Given the description of an element on the screen output the (x, y) to click on. 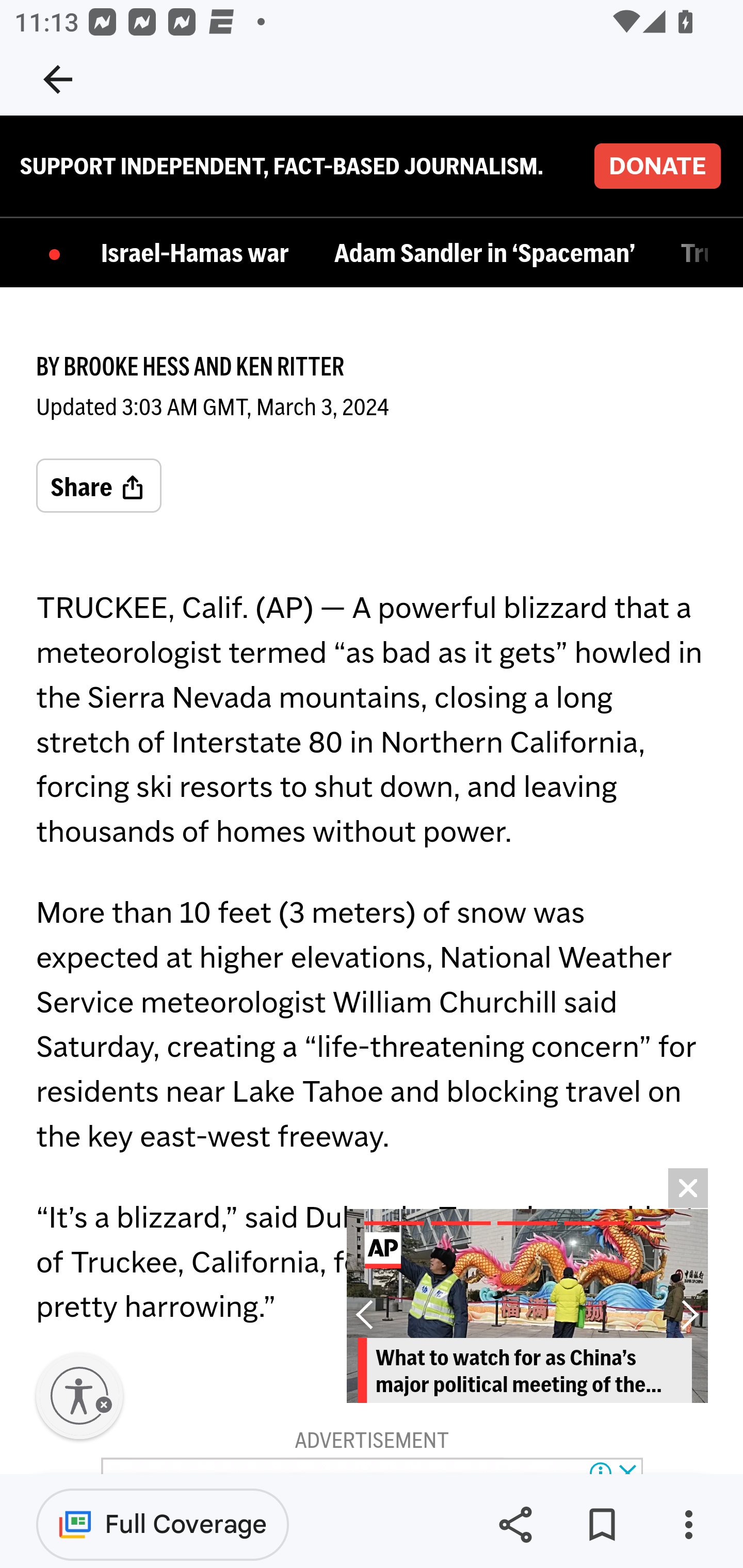
Navigate up (57, 79)
DONATE (657, 167)
Israel-Hamas war (200, 254)
Adam Sandler in ‘Spaceman’ (489, 254)
Share (99, 486)
Enable accessibility (79, 1396)
Share (514, 1524)
Save for later (601, 1524)
More options (688, 1524)
Full Coverage (162, 1524)
